Given the description of an element on the screen output the (x, y) to click on. 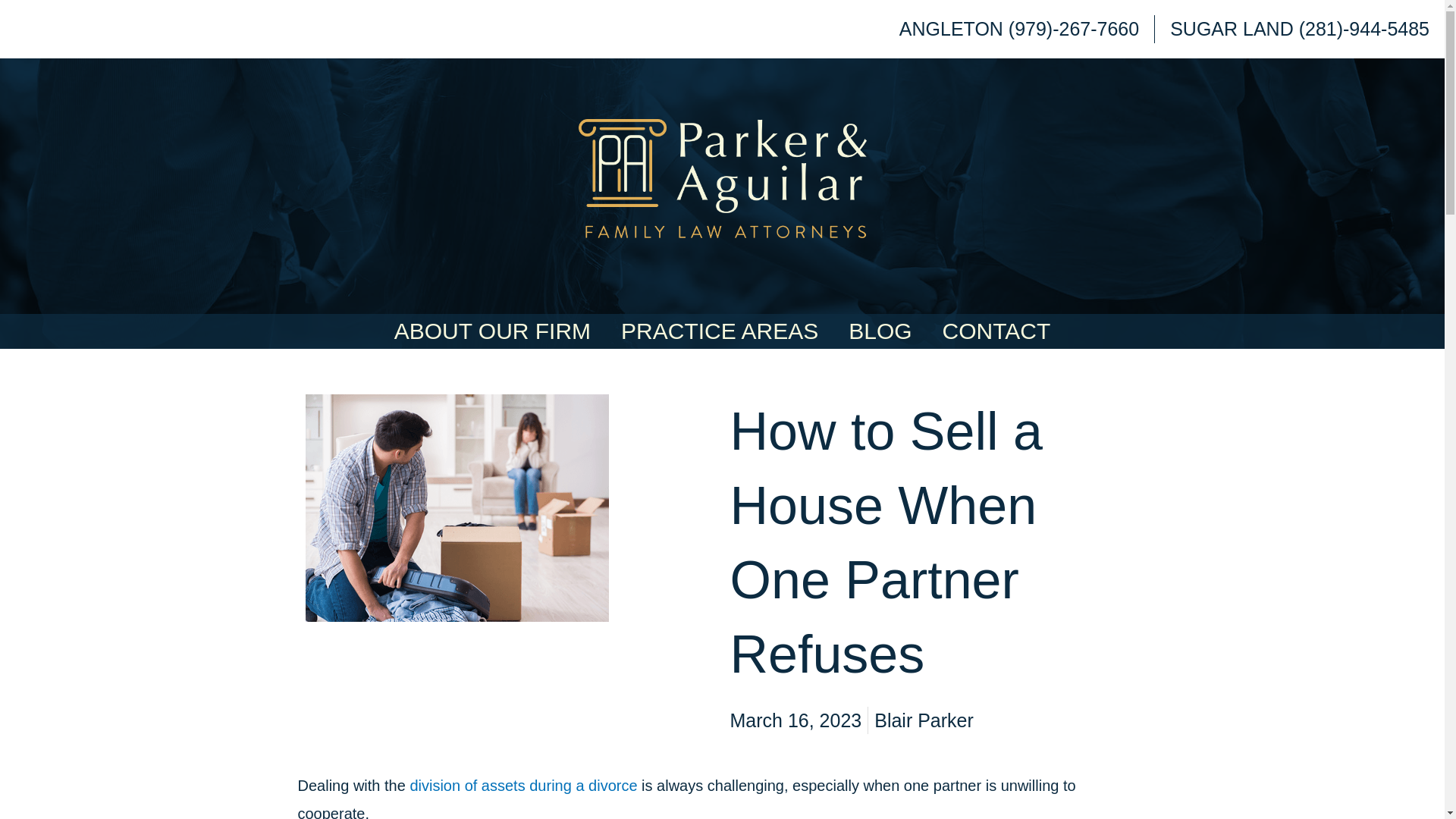
division of assets during a divorce (523, 785)
PRACTICE AREAS (718, 330)
ABOUT OUR FIRM (491, 330)
CONTACT (996, 330)
BLOG (879, 330)
